Given the description of an element on the screen output the (x, y) to click on. 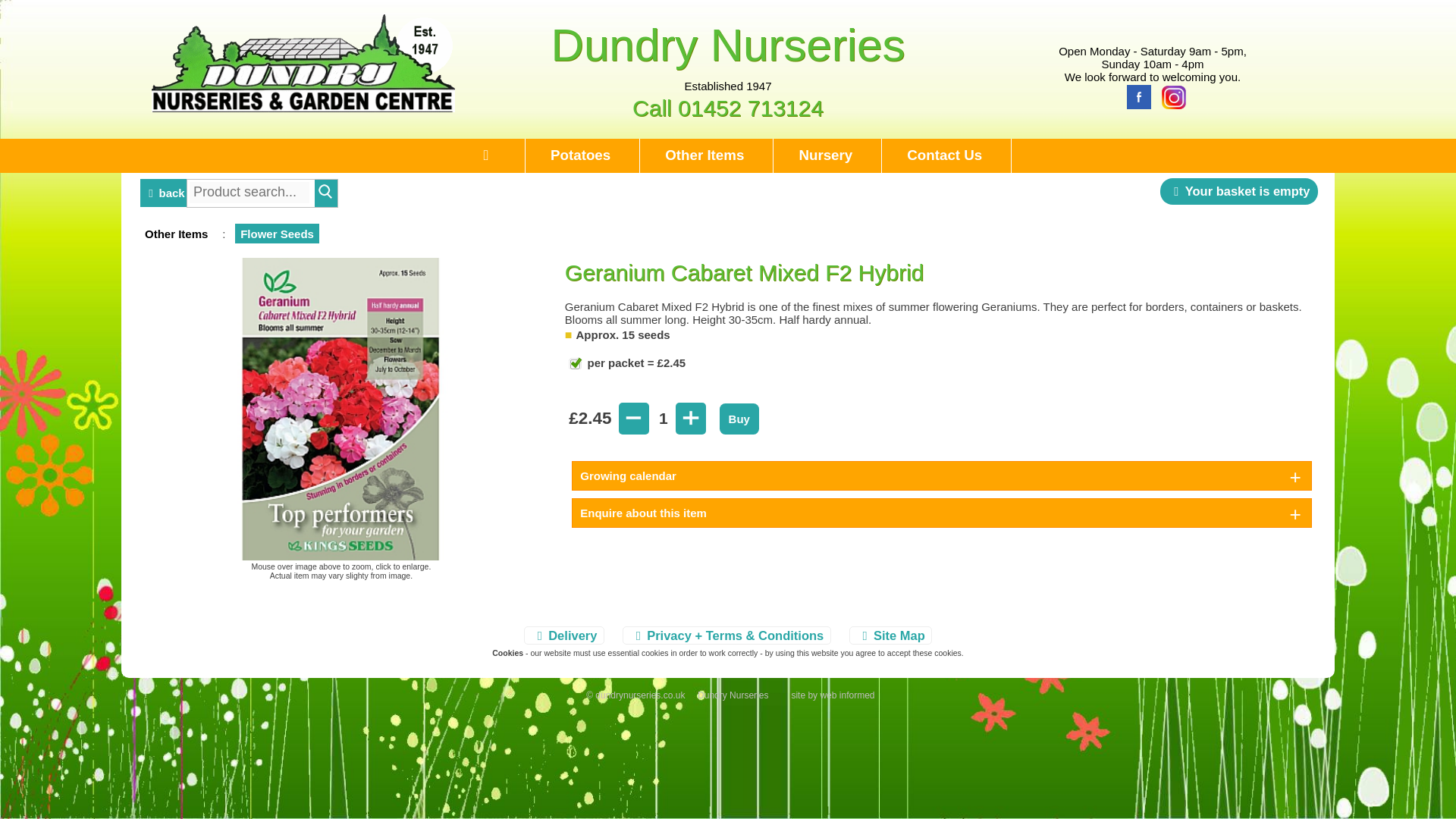
Nursery (825, 155)
Potatoes (580, 155)
Contact Us (944, 155)
Dundry Nurseries (728, 44)
Flower Seeds (277, 233)
Buy (738, 418)
Other Items (705, 155)
Site Map (890, 635)
Your basket is empty (1238, 191)
Search (325, 191)
01452 713124 (751, 107)
web informed (847, 695)
back (163, 182)
Delivery (563, 635)
